Given the description of an element on the screen output the (x, y) to click on. 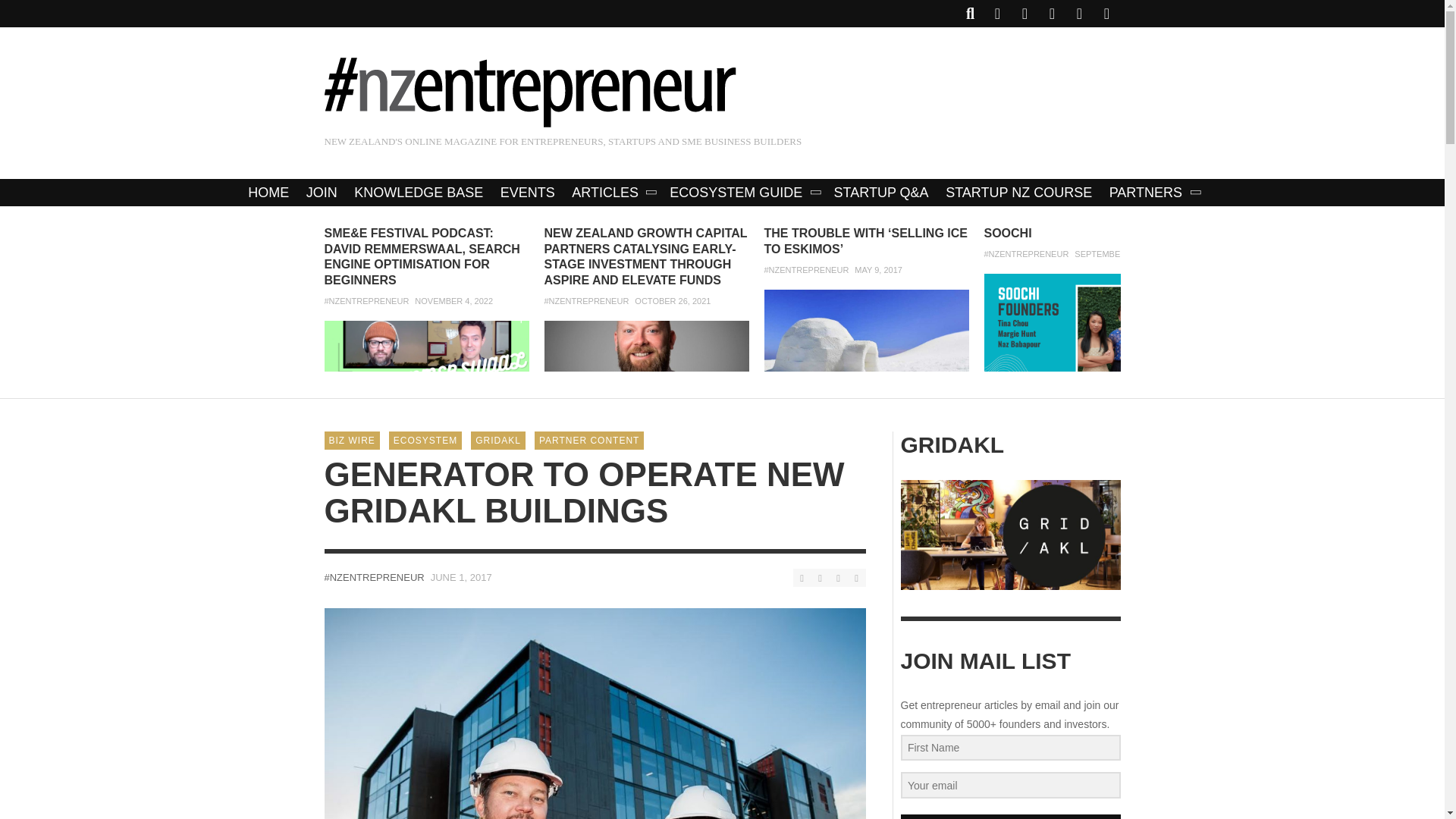
STARTUP NZ COURSE (1018, 192)
EVENTS (528, 192)
PARTNERS (1152, 192)
SOOCHI (1008, 232)
JOIN (321, 192)
HOME (269, 192)
ECOSYSTEM GUIDE (743, 192)
ARTICLES (612, 192)
KNOWLEDGE BASE (419, 192)
